Given the description of an element on the screen output the (x, y) to click on. 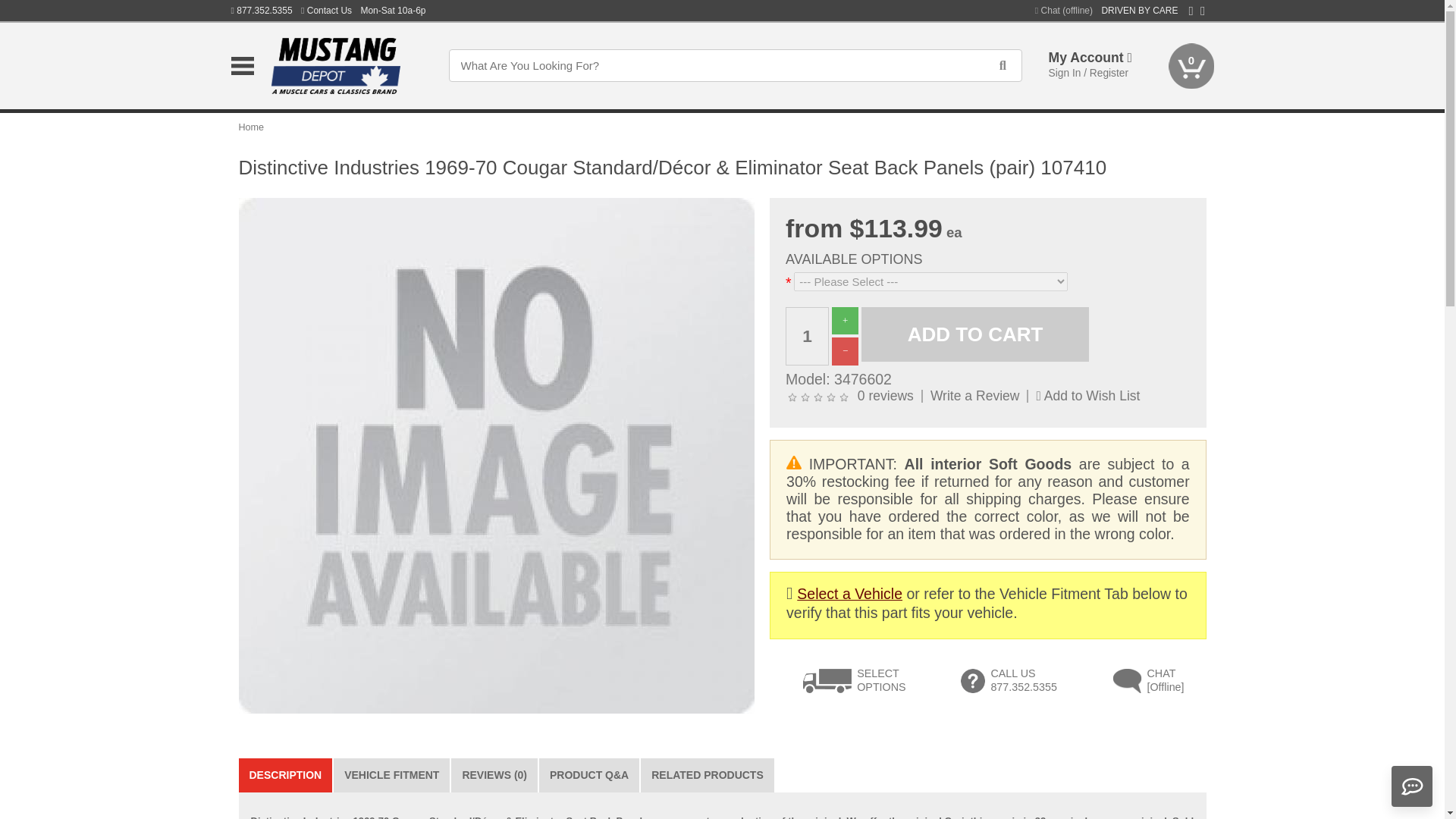
Mustang Depot (345, 65)
Add to Cart (975, 334)
